Given the description of an element on the screen output the (x, y) to click on. 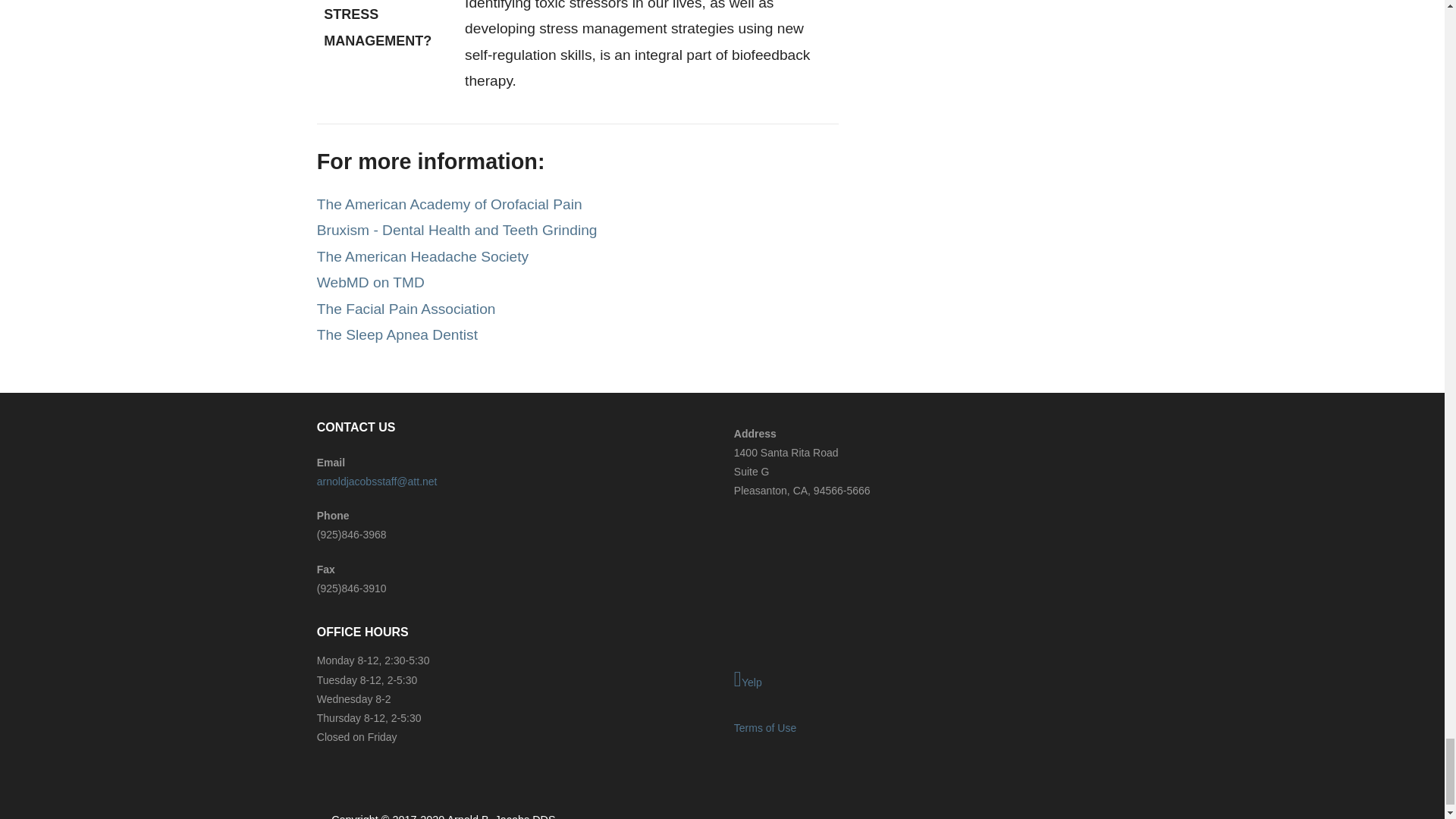
Visit ARNOLD B. JACOBS DDS on Yelp (929, 680)
Yelp (929, 680)
The American Headache Society (422, 256)
The Facial Pain Association (406, 308)
The Sleep Apnea Dentist (397, 334)
Bruxism - Dental Health and Teeth Grinding (456, 229)
Terms of Use (764, 727)
The American Academy of Orofacial Pain (449, 204)
WebMD on TMD (371, 282)
